Given the description of an element on the screen output the (x, y) to click on. 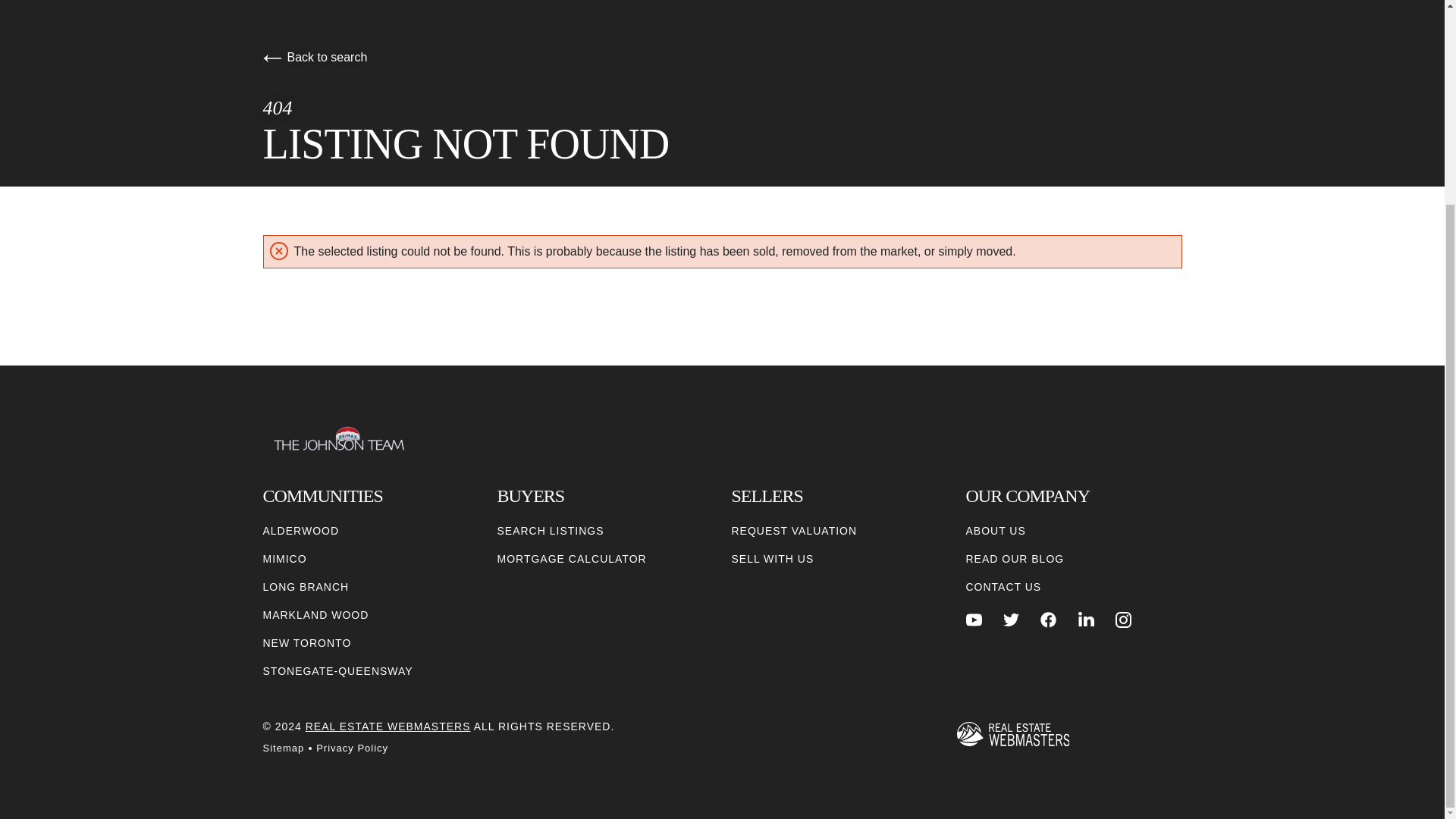
FACEBOOK (1049, 619)
TWITTER (1011, 619)
MARKLAND WOOD (315, 615)
ALDERWOOD (300, 530)
LONG BRANCH (305, 587)
LINKEDIN (1086, 619)
MIMICO (283, 559)
Back to search (314, 56)
YOUTUBE (973, 619)
